Given the description of an element on the screen output the (x, y) to click on. 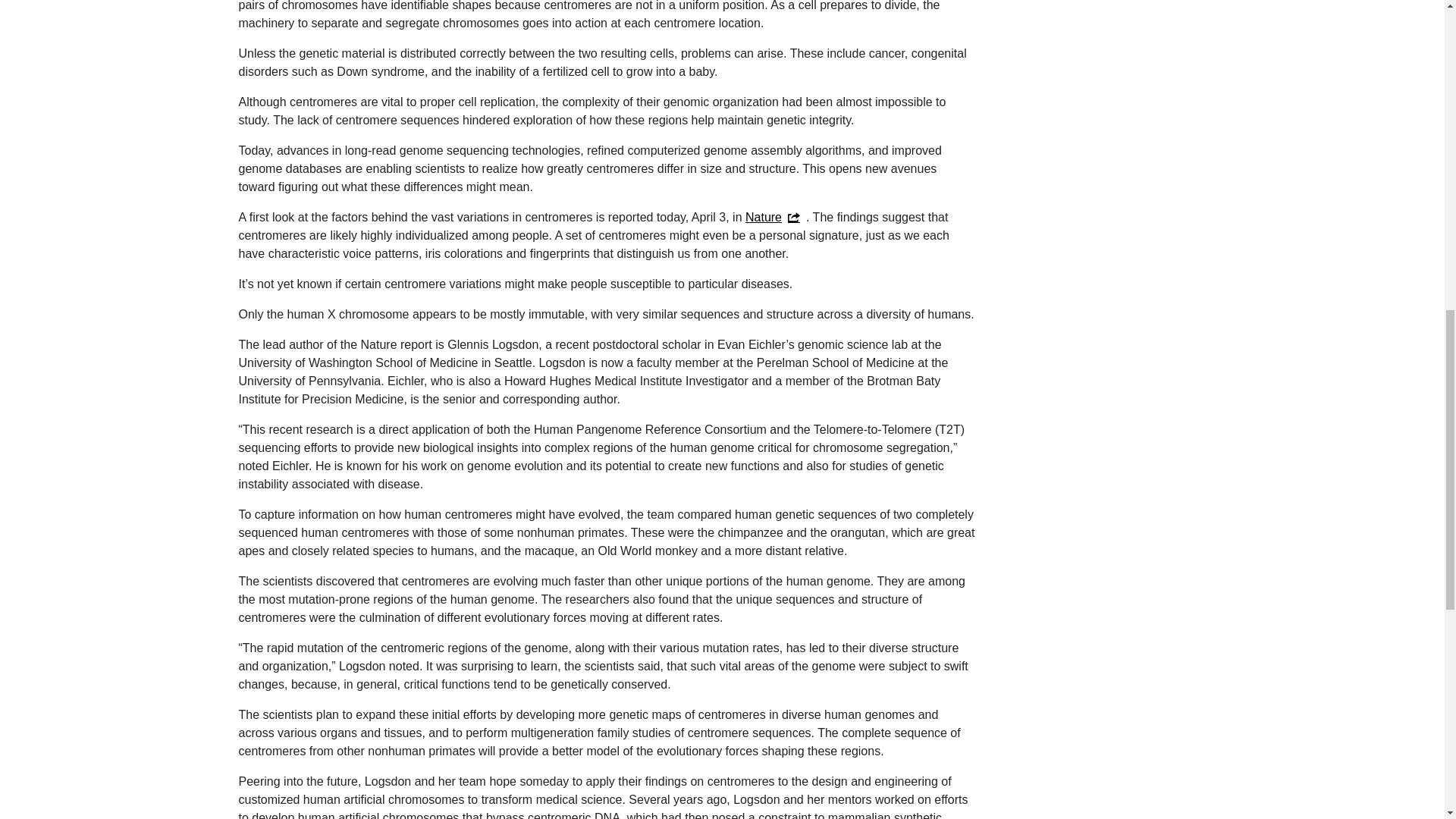
Nature (775, 216)
